Given the description of an element on the screen output the (x, y) to click on. 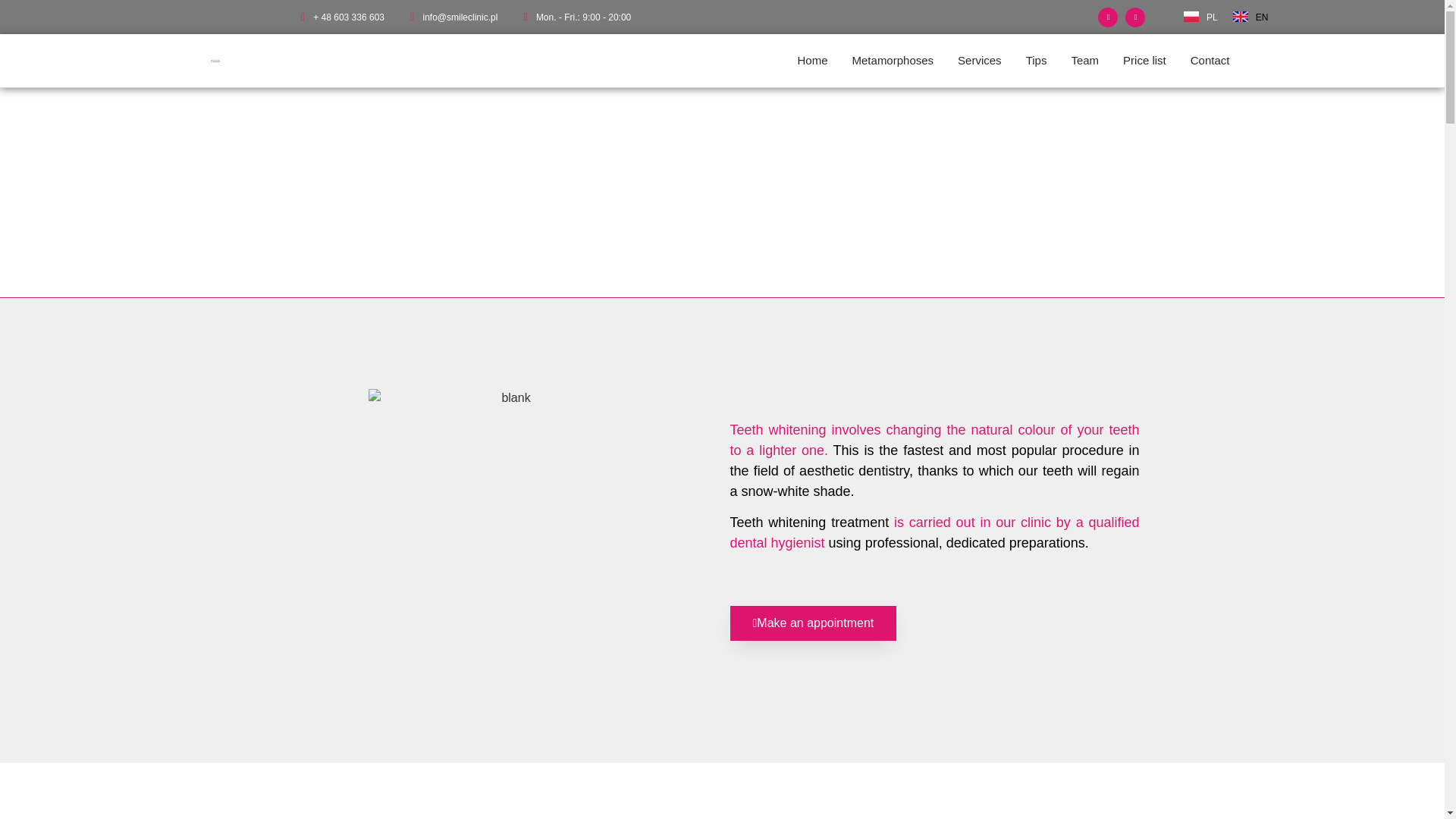
Services (978, 60)
EN (1250, 16)
Mon. - Fri.: 9:00 - 20:00 (574, 17)
PL (1200, 16)
Tips (1036, 60)
Team (1084, 60)
Metamorphoses (893, 60)
Home (813, 60)
